Given the description of an element on the screen output the (x, y) to click on. 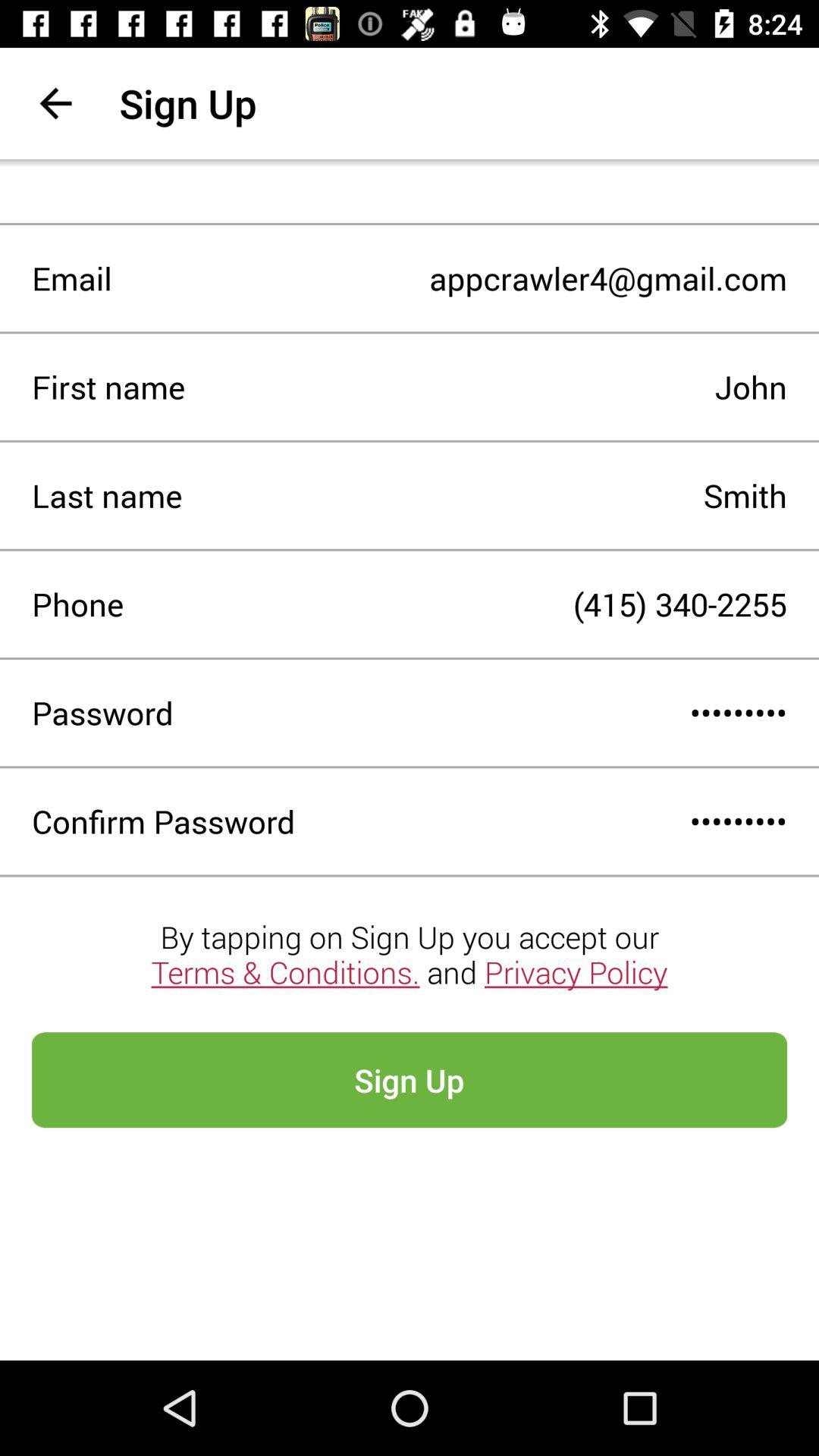
choose the icon next to sign up icon (55, 103)
